Given the description of an element on the screen output the (x, y) to click on. 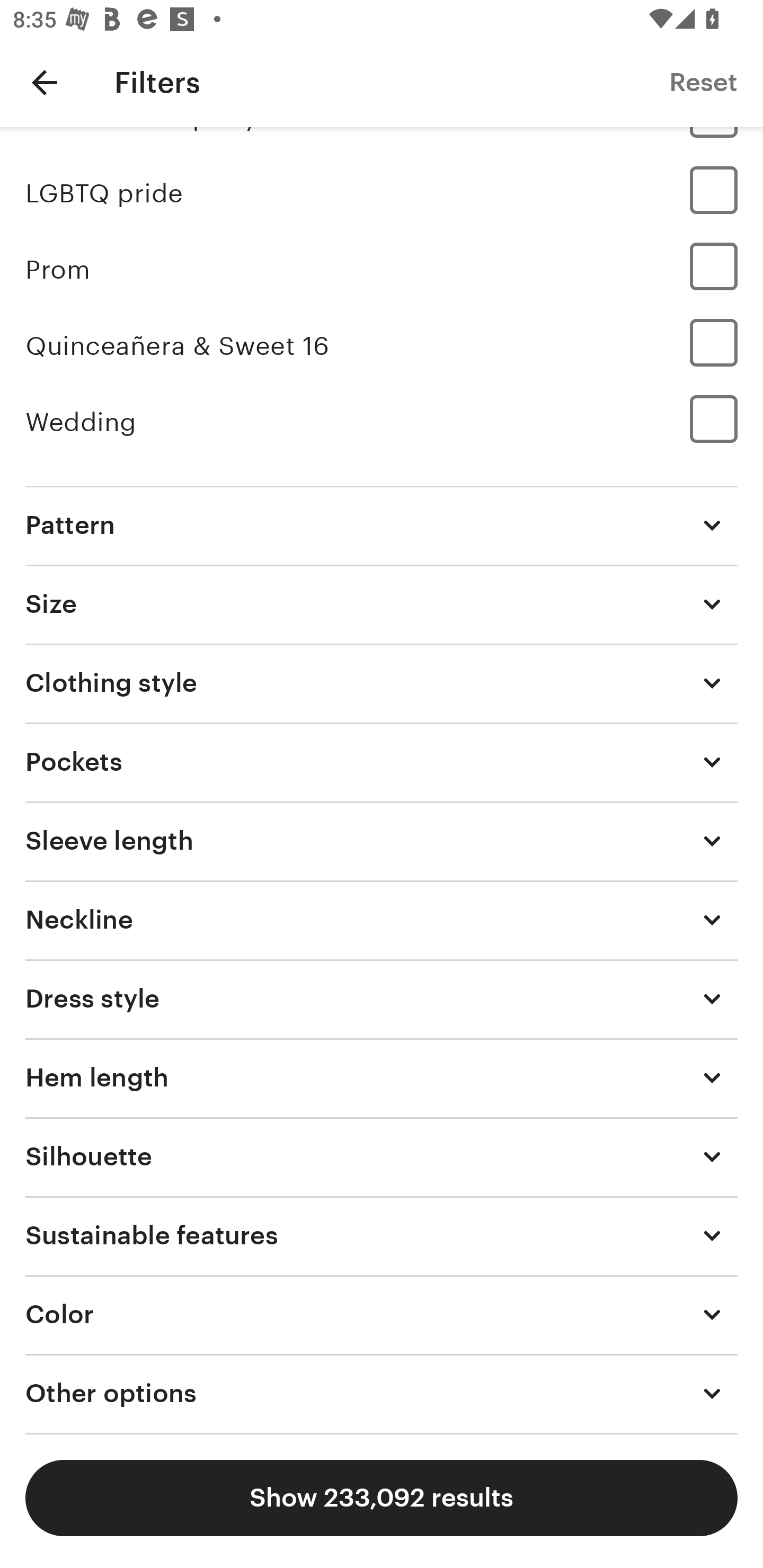
Navigate up (44, 82)
Reset (703, 81)
LGBTQ pride (381, 193)
Prom (381, 269)
Quinceañera & Sweet 16 (381, 345)
Wedding (381, 422)
Pattern (381, 525)
Size (381, 603)
Clothing style (381, 682)
Pockets (381, 761)
Sleeve length (381, 840)
Neckline (381, 919)
Dress style (381, 998)
Hem length (381, 1077)
Silhouette (381, 1156)
Sustainable features (381, 1235)
Color (381, 1314)
Other options (381, 1393)
Show 233,092 results (381, 1497)
